Given the description of an element on the screen output the (x, y) to click on. 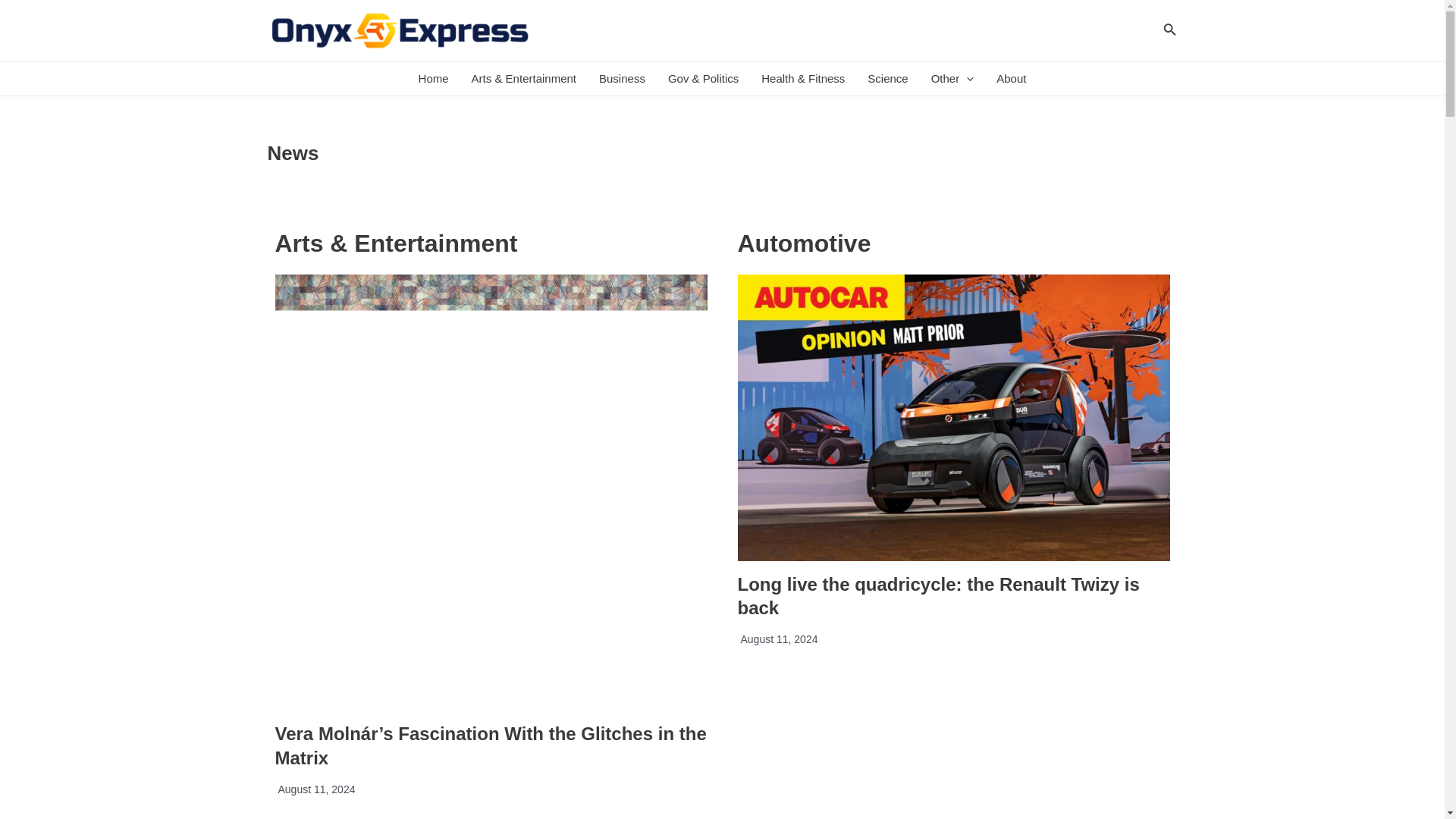
Business (622, 78)
Other (952, 78)
About (1010, 78)
Home (433, 78)
Science (887, 78)
